Given the description of an element on the screen output the (x, y) to click on. 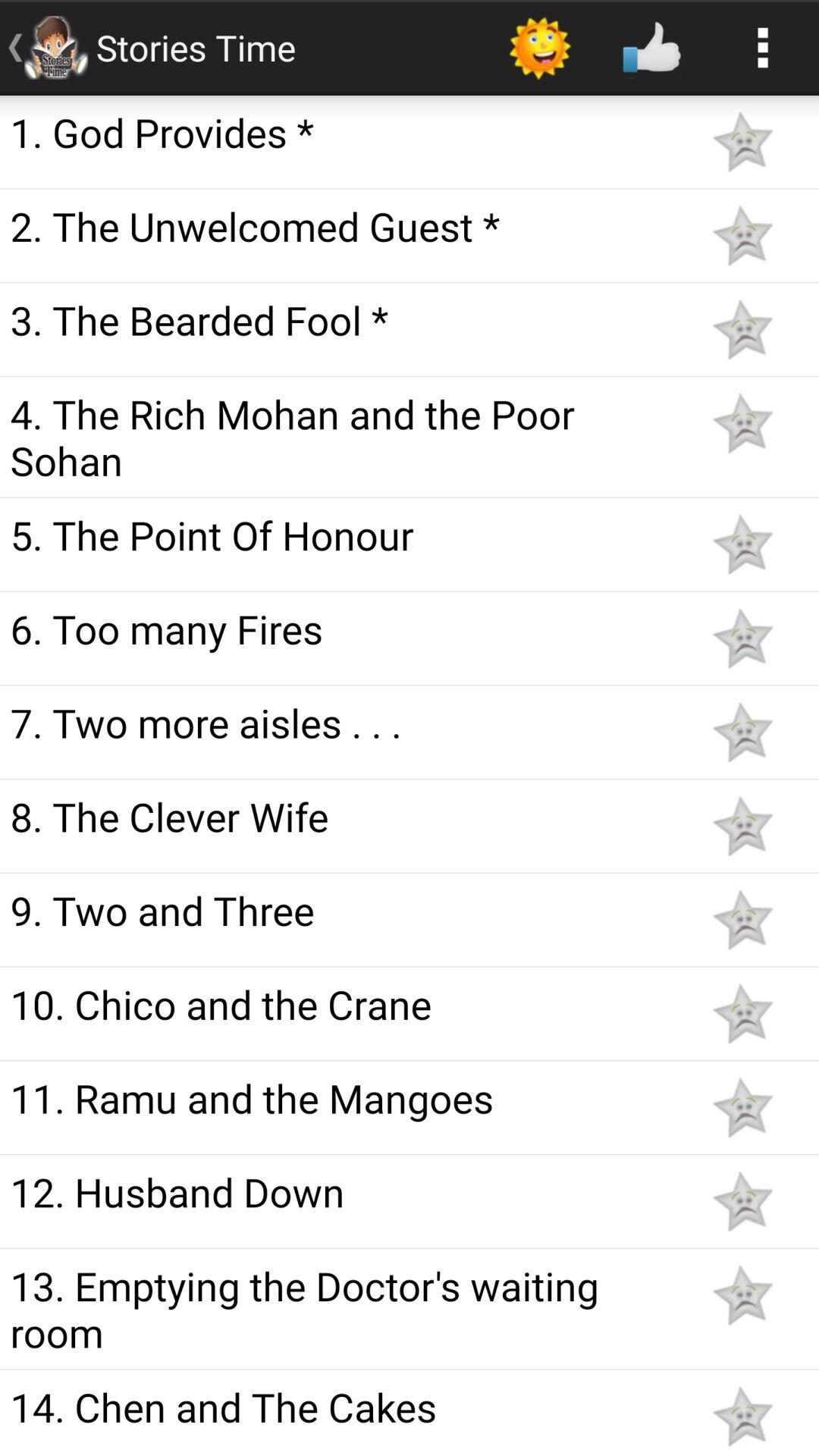
select the 1. god provides * (343, 131)
